Given the description of an element on the screen output the (x, y) to click on. 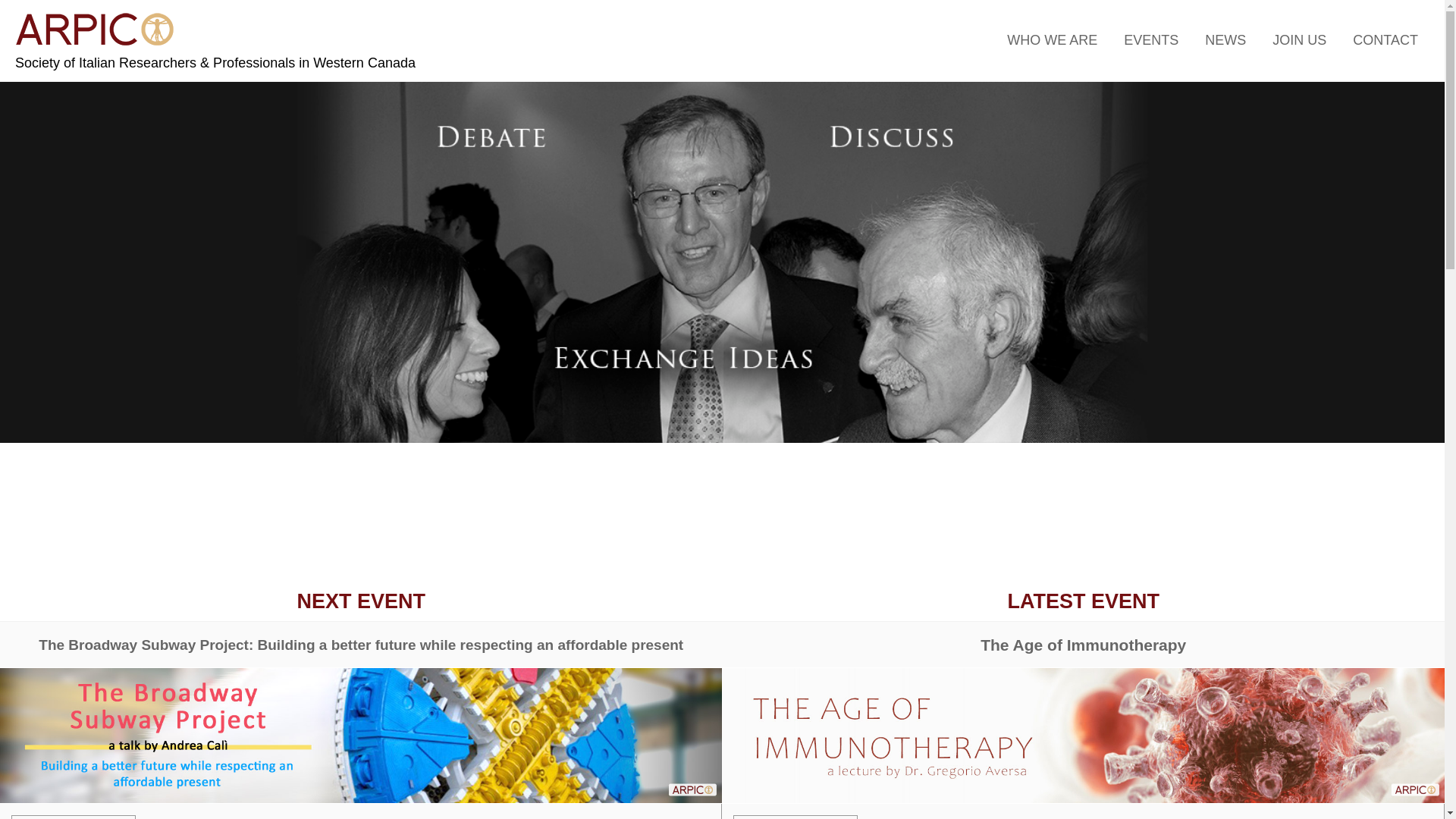
The Age of Immunotherapy Element type: text (1083, 644)
NEWS Element type: text (1224, 39)
ARPICO Element type: text (95, 30)
CONTACT Element type: text (1385, 39)
WHO WE ARE Element type: text (1052, 39)
LATEST EVENT Element type: text (1083, 600)
NEXT EVENT Element type: text (360, 600)
JOIN US Element type: text (1299, 39)
EVENTS Element type: text (1150, 39)
